Given the description of an element on the screen output the (x, y) to click on. 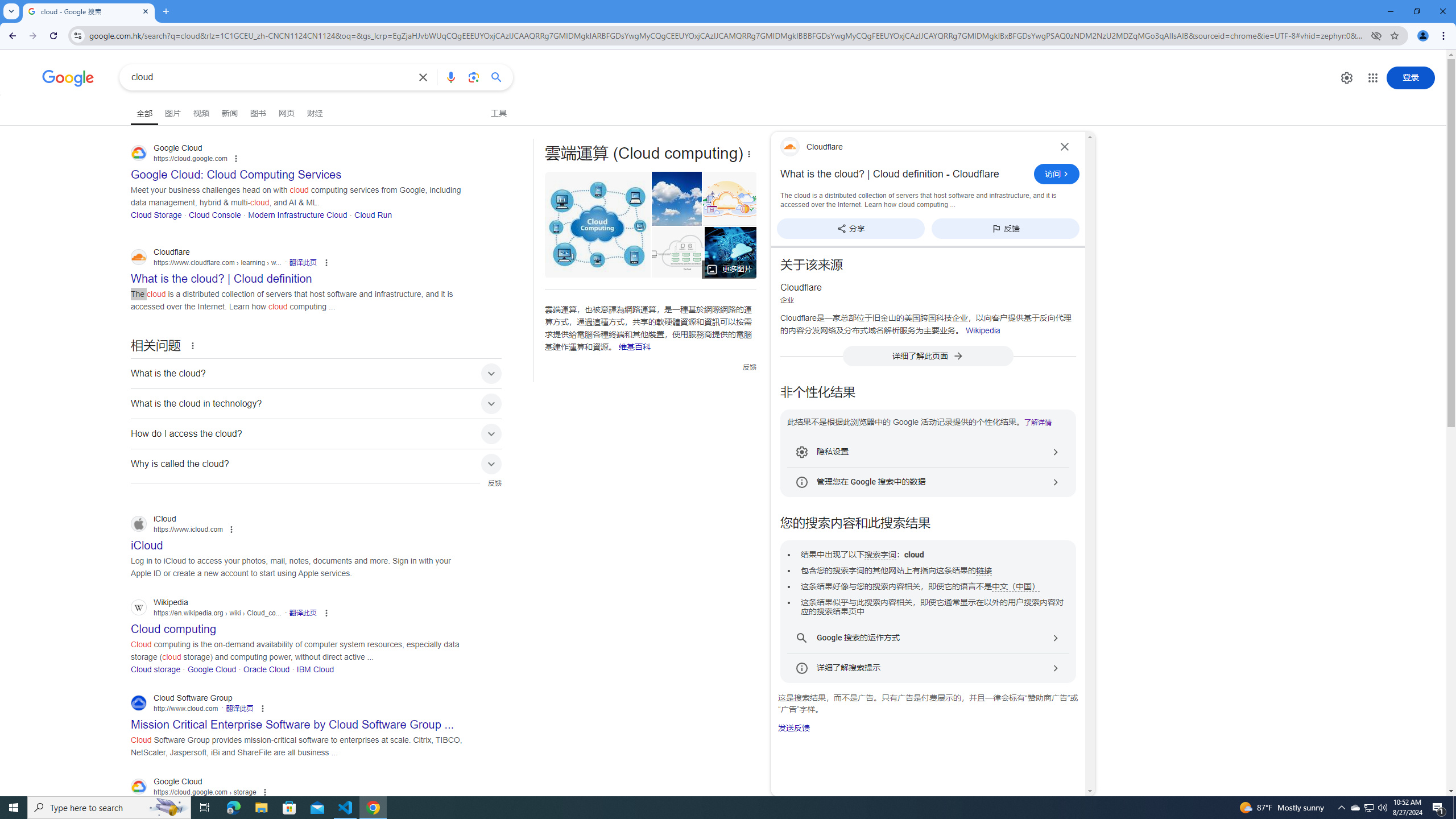
What is cloud computing? Everything you need to know now ... (742, 251)
What is the cloud? | Cloud definition | Cloudflare (679, 251)
